Given the description of an element on the screen output the (x, y) to click on. 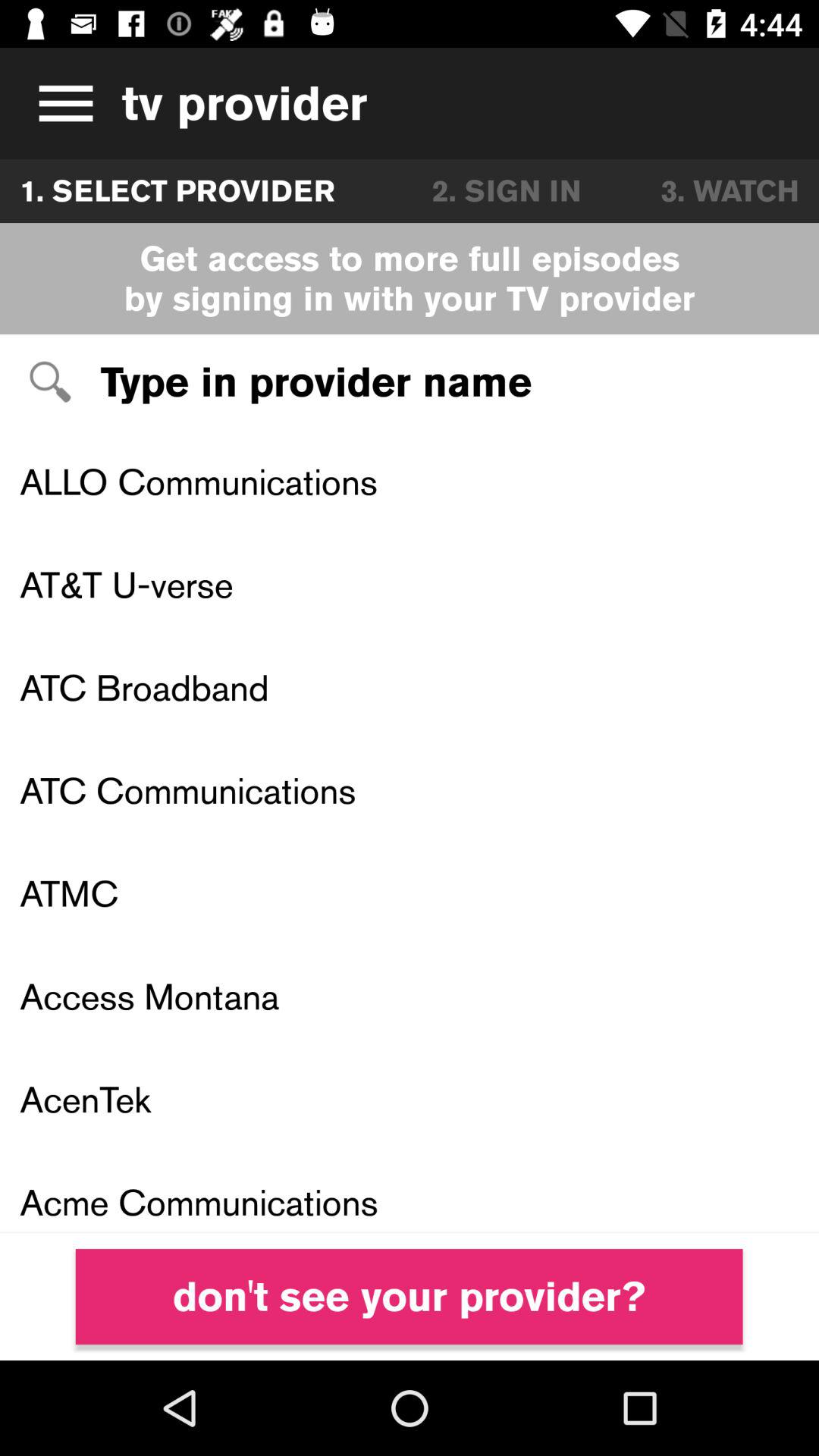
press the acentek icon (409, 1099)
